Given the description of an element on the screen output the (x, y) to click on. 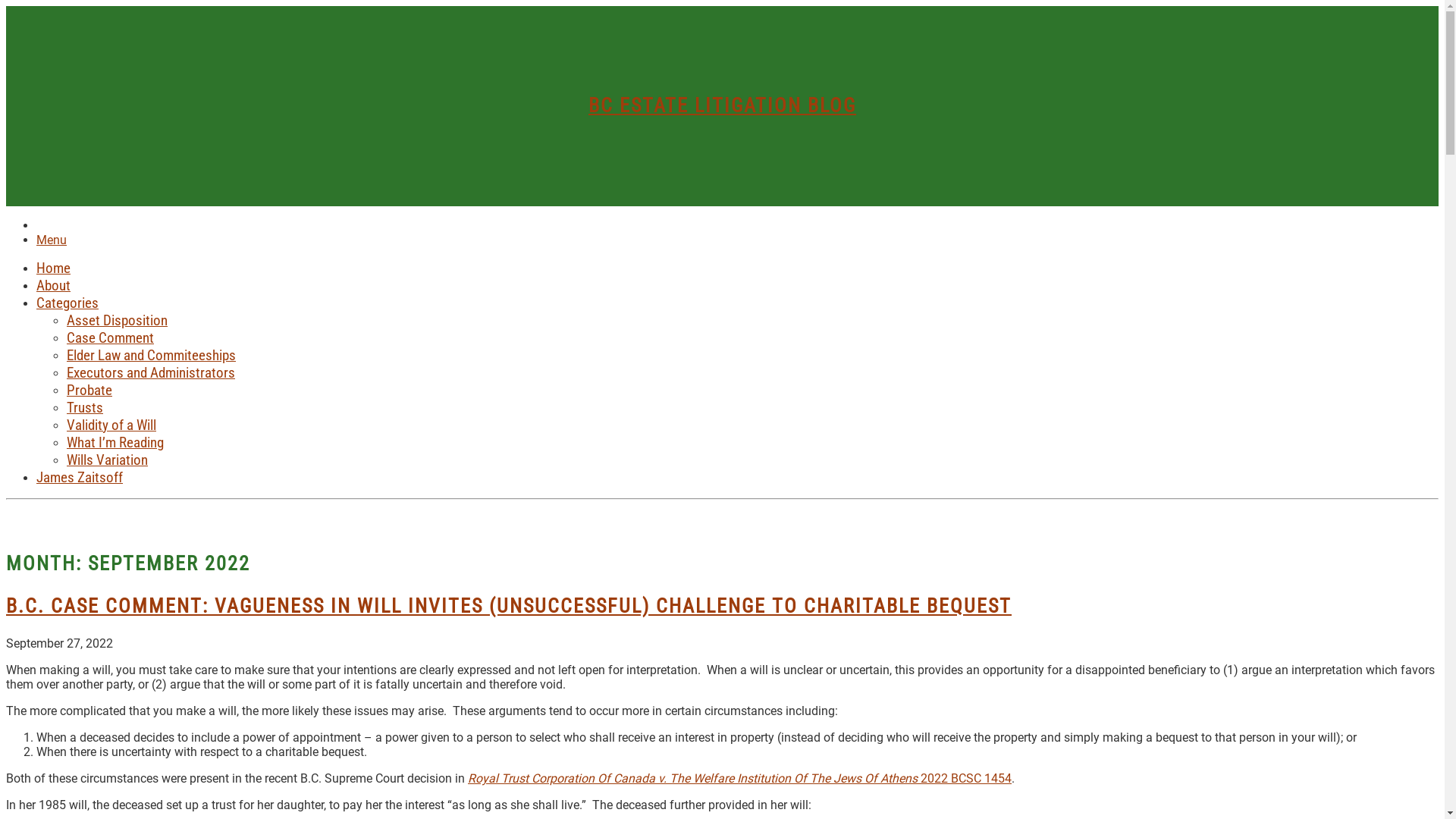
Skip to content Element type: text (5, 5)
Categories Element type: text (67, 302)
Wills Variation Element type: text (106, 459)
Elder Law and Commiteeships Element type: text (150, 355)
Asset Disposition Element type: text (116, 320)
About Element type: text (53, 285)
Home Element type: text (53, 267)
Menu Element type: text (51, 239)
Trusts Element type: text (84, 407)
Executors and Administrators Element type: text (150, 372)
Case Comment Element type: text (109, 337)
Validity of a Will Element type: text (111, 424)
BC ESTATE LITIGATION BLOG Element type: text (722, 105)
James Zaitsoff Element type: text (79, 477)
Probate Element type: text (89, 389)
